Given the description of an element on the screen output the (x, y) to click on. 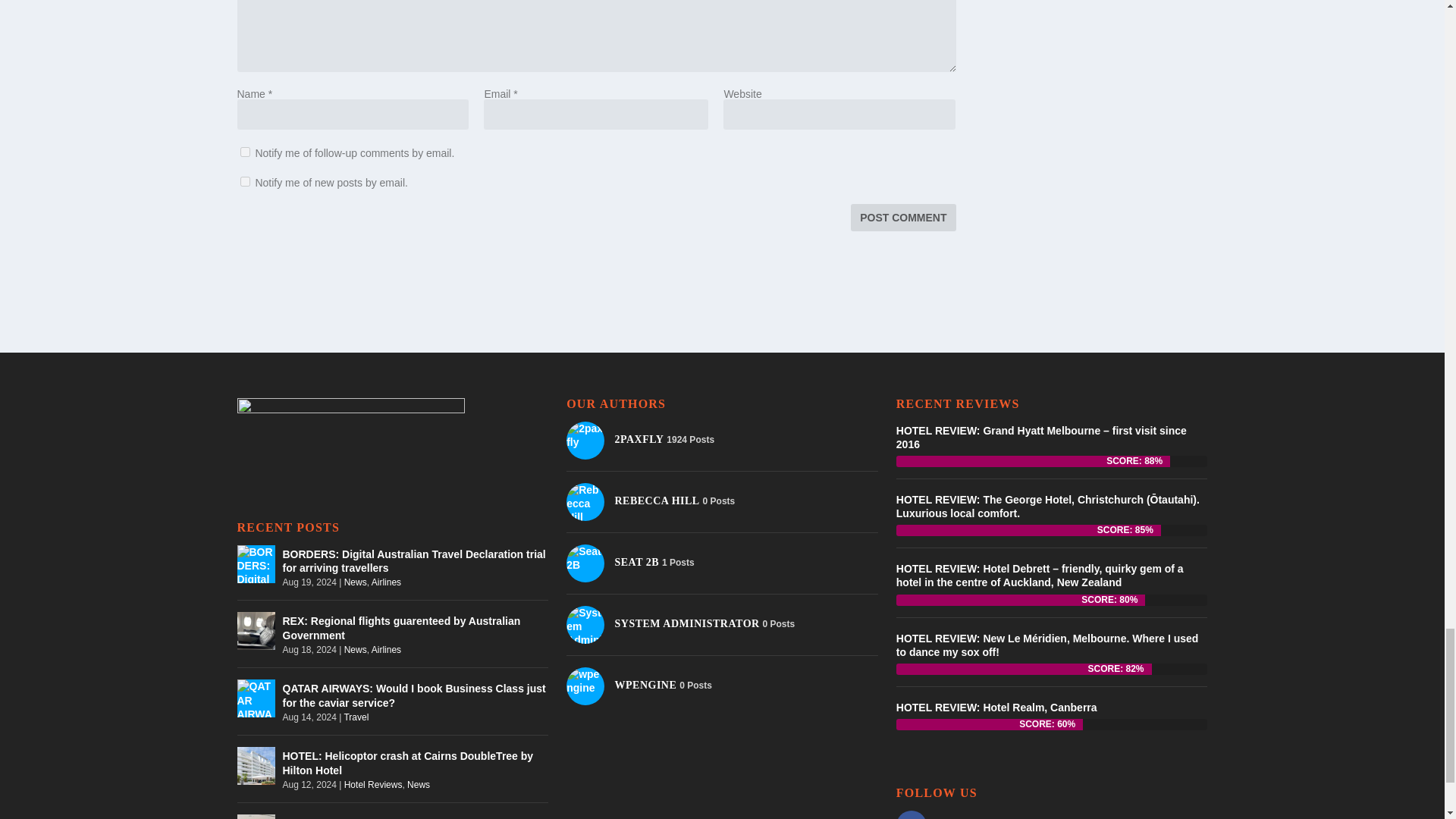
Post Comment (902, 216)
subscribe (244, 152)
subscribe (244, 181)
